Given the description of an element on the screen output the (x, y) to click on. 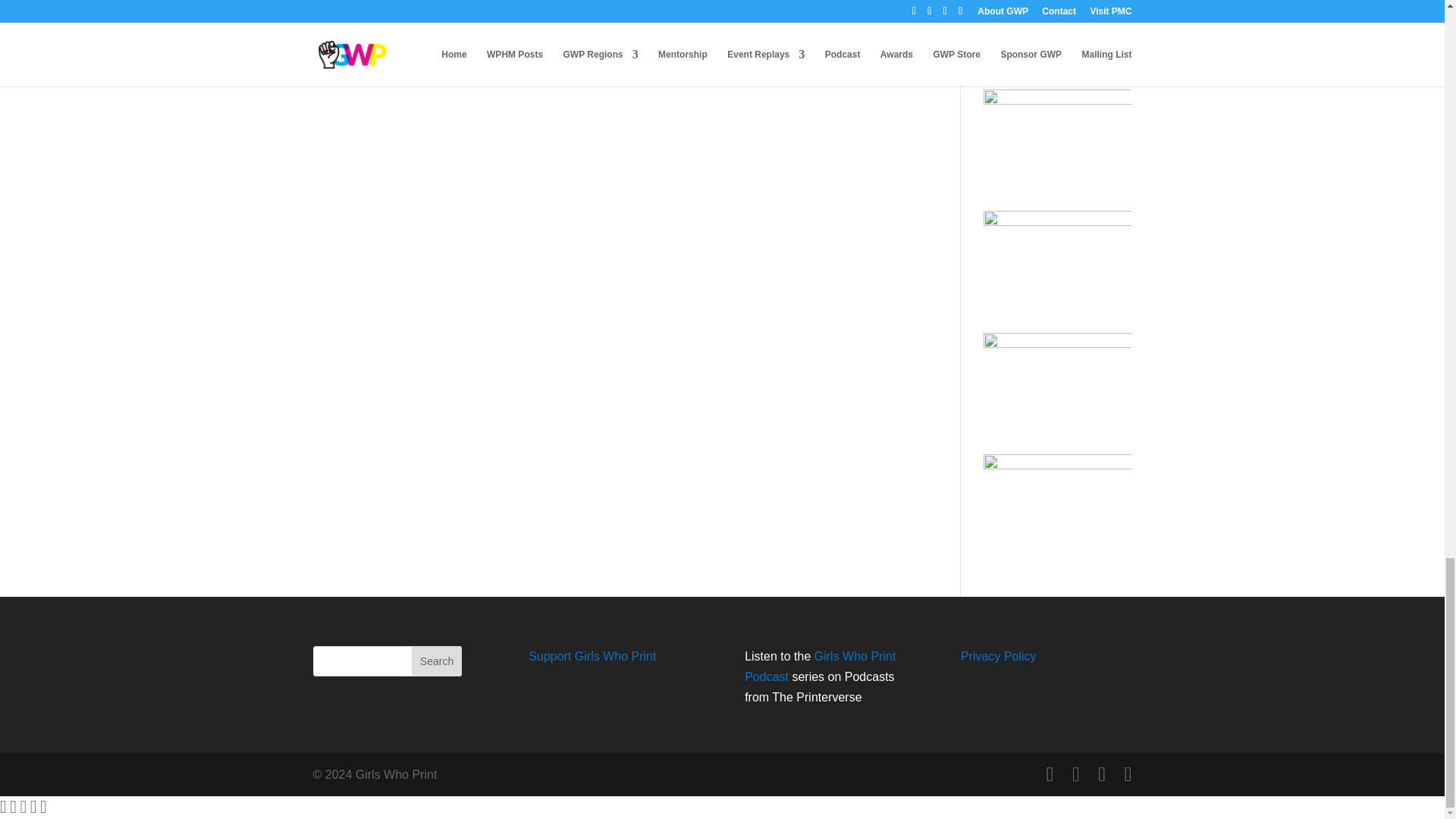
Search (436, 661)
